Given the description of an element on the screen output the (x, y) to click on. 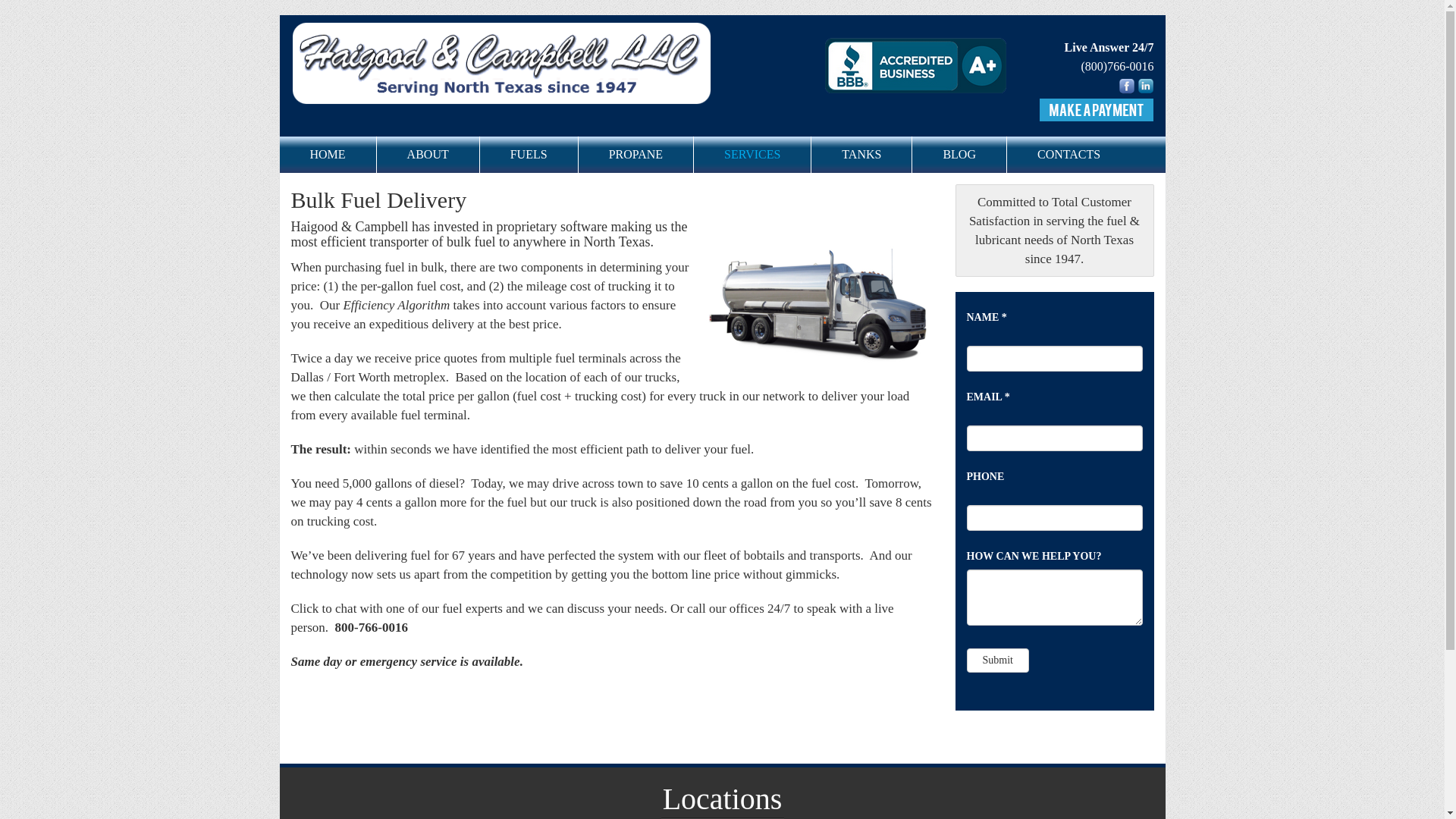
Submit (996, 660)
